Given the description of an element on the screen output the (x, y) to click on. 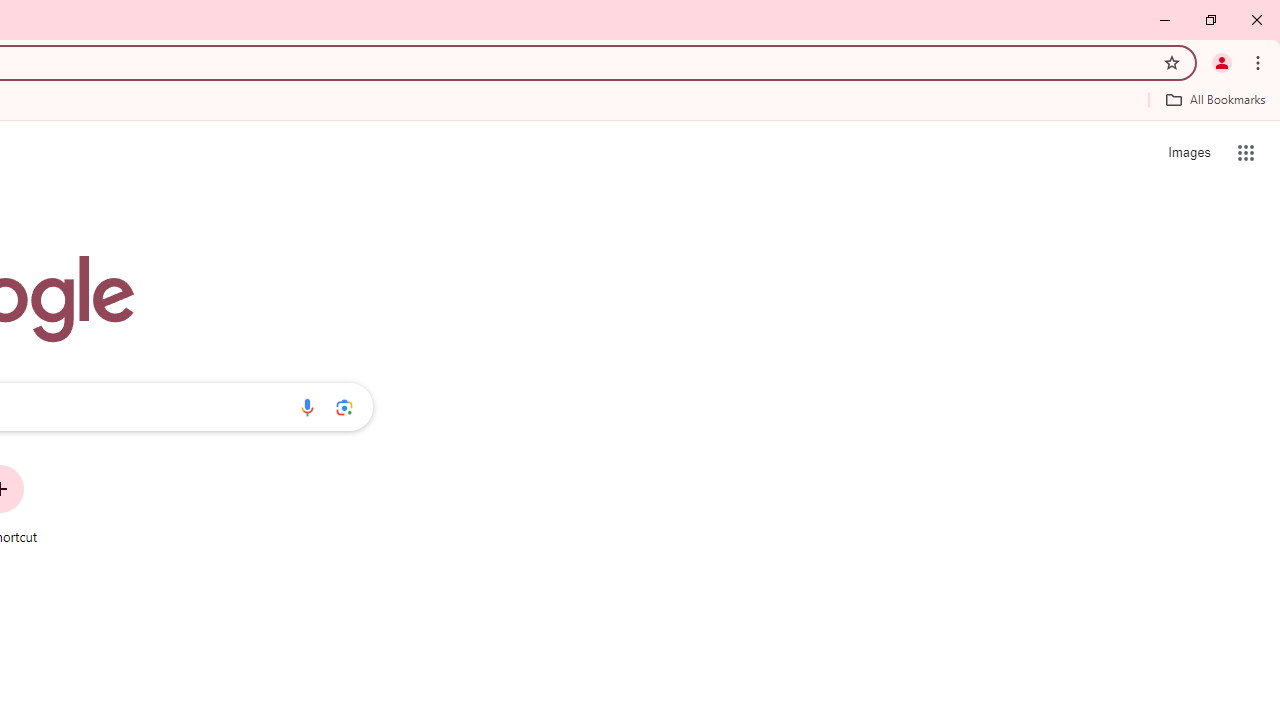
Search by image (344, 407)
Google apps (1245, 152)
Search by voice (307, 407)
All Bookmarks (1215, 99)
Search for Images  (1188, 152)
